Given the description of an element on the screen output the (x, y) to click on. 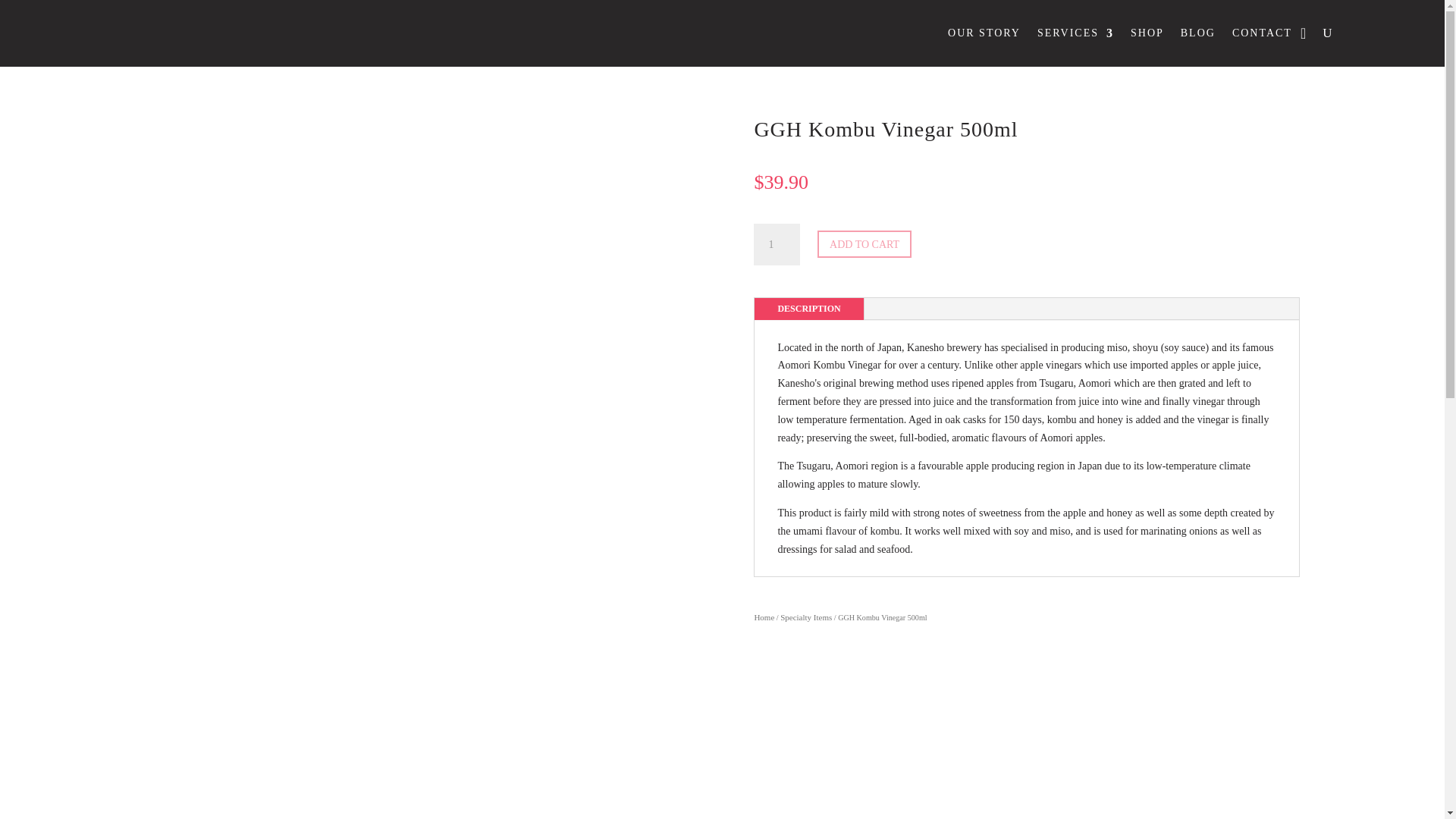
OUR STORY (983, 33)
1 (776, 243)
SERVICES (1074, 33)
DESCRIPTION (808, 308)
Home (764, 616)
CONTACT (1261, 33)
ADD TO CART (863, 243)
Specialty Items (805, 616)
